Given the description of an element on the screen output the (x, y) to click on. 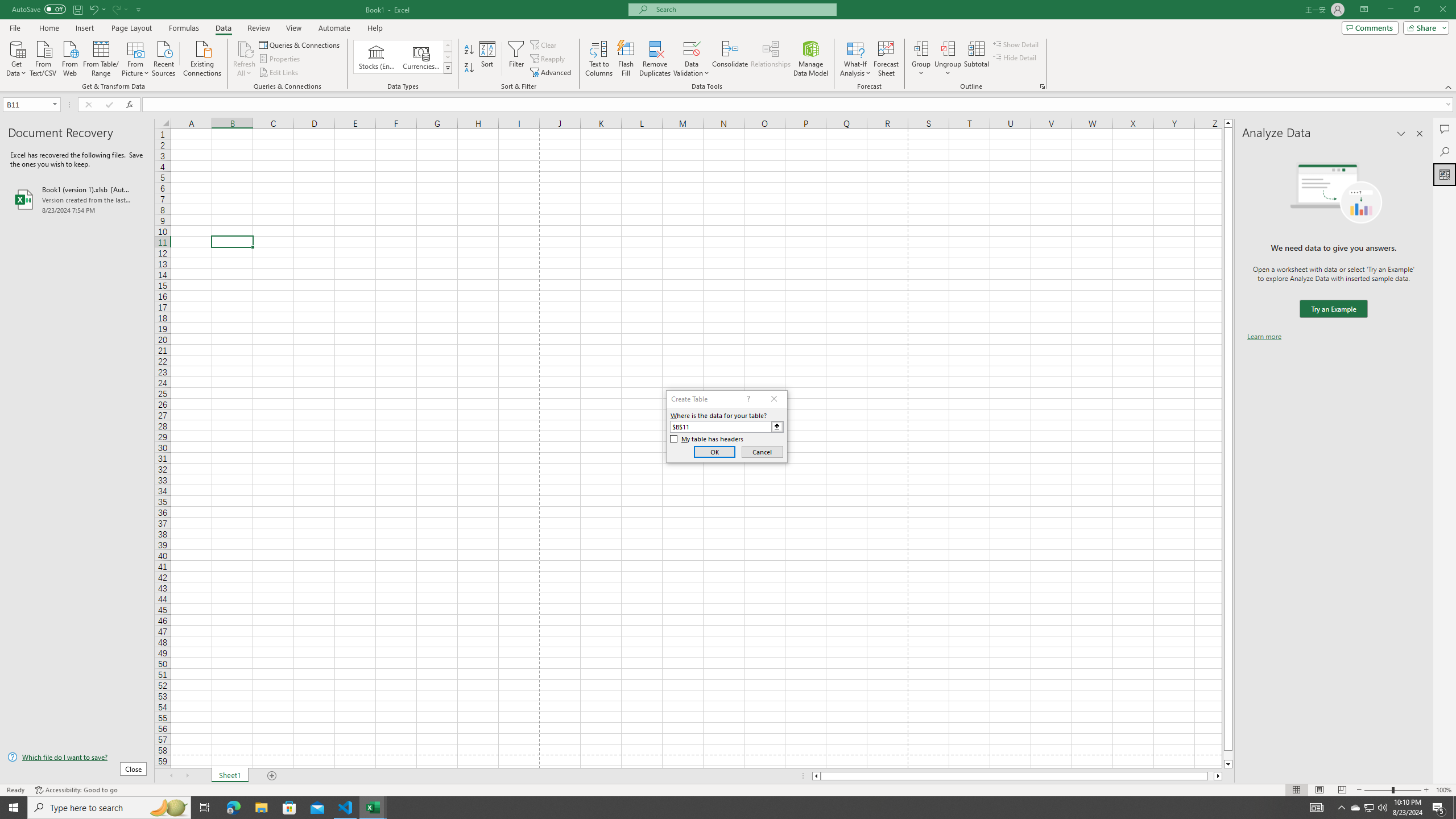
Book1 (version 1).xlsb  [AutoRecovered] (77, 199)
Close pane (1419, 133)
From Text/CSV (43, 57)
From Picture (135, 57)
Home (48, 28)
Edit Links (279, 72)
Text to Columns... (598, 58)
Manage Data Model (810, 58)
Comments (1369, 27)
AutoSave (38, 9)
Advanced... (551, 72)
Accessibility Checker Accessibility: Good to go (76, 790)
Sort... (487, 58)
Help (374, 28)
AutomationID: ConvertToLinkedEntity (403, 56)
